Given the description of an element on the screen output the (x, y) to click on. 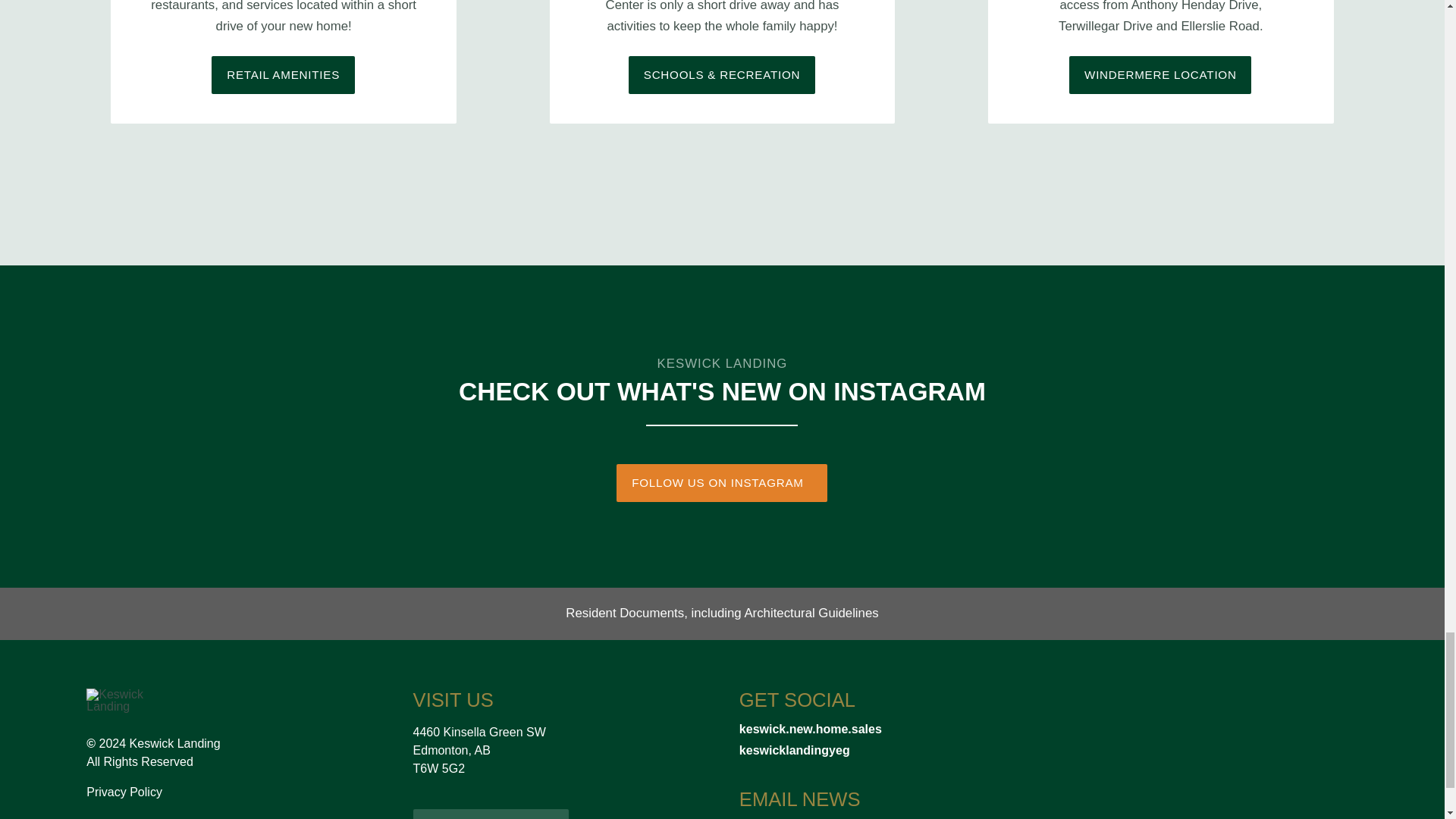
Privacy Policy (123, 791)
keswicklandingyeg (885, 750)
CONNECT WITH US (491, 814)
FOLLOW US ON INSTAGRAM (721, 482)
keswick.new.home.sales (885, 729)
WINDERMERE LOCATION (1159, 74)
RETAIL AMENITIES (282, 74)
